Given the description of an element on the screen output the (x, y) to click on. 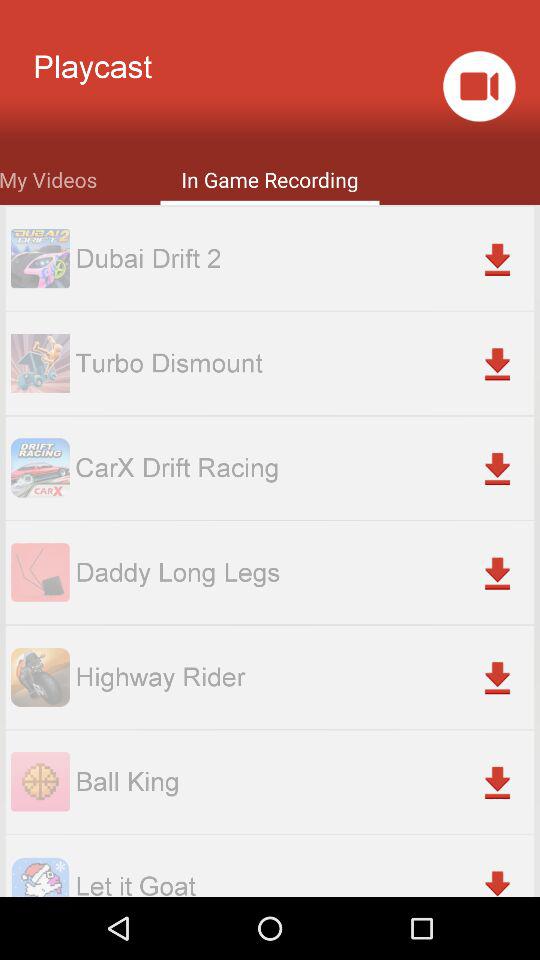
click the item next to the playcast icon (478, 85)
